Given the description of an element on the screen output the (x, y) to click on. 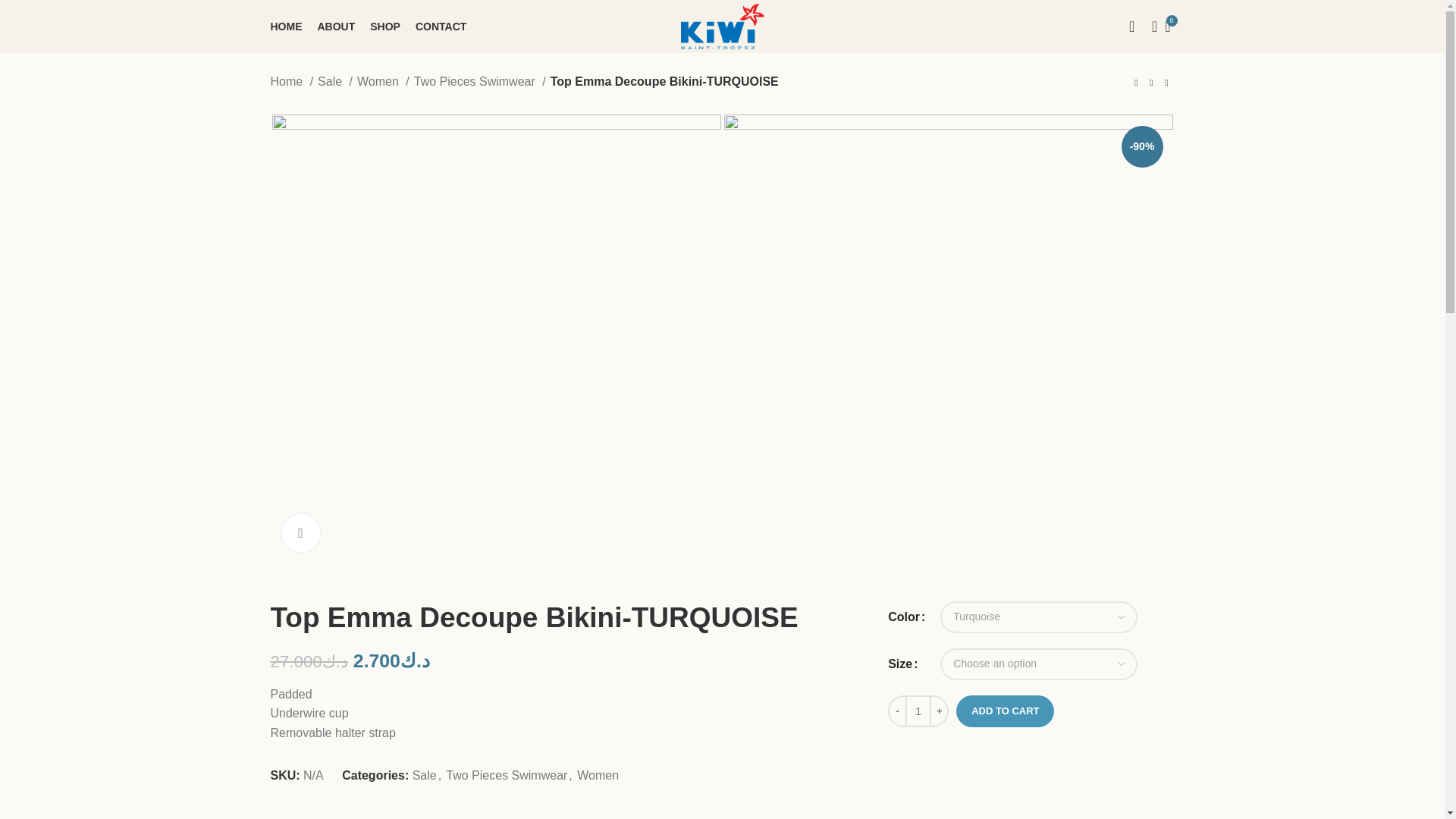
Log in (1008, 275)
SHOP (384, 26)
Sale (424, 775)
Women (382, 81)
HOME (285, 26)
Two Pieces Swimwear (479, 81)
Home (291, 81)
ADD TO CART (1005, 711)
ABOUT (336, 26)
Sale (334, 81)
CONTACT (439, 26)
